Given the description of an element on the screen output the (x, y) to click on. 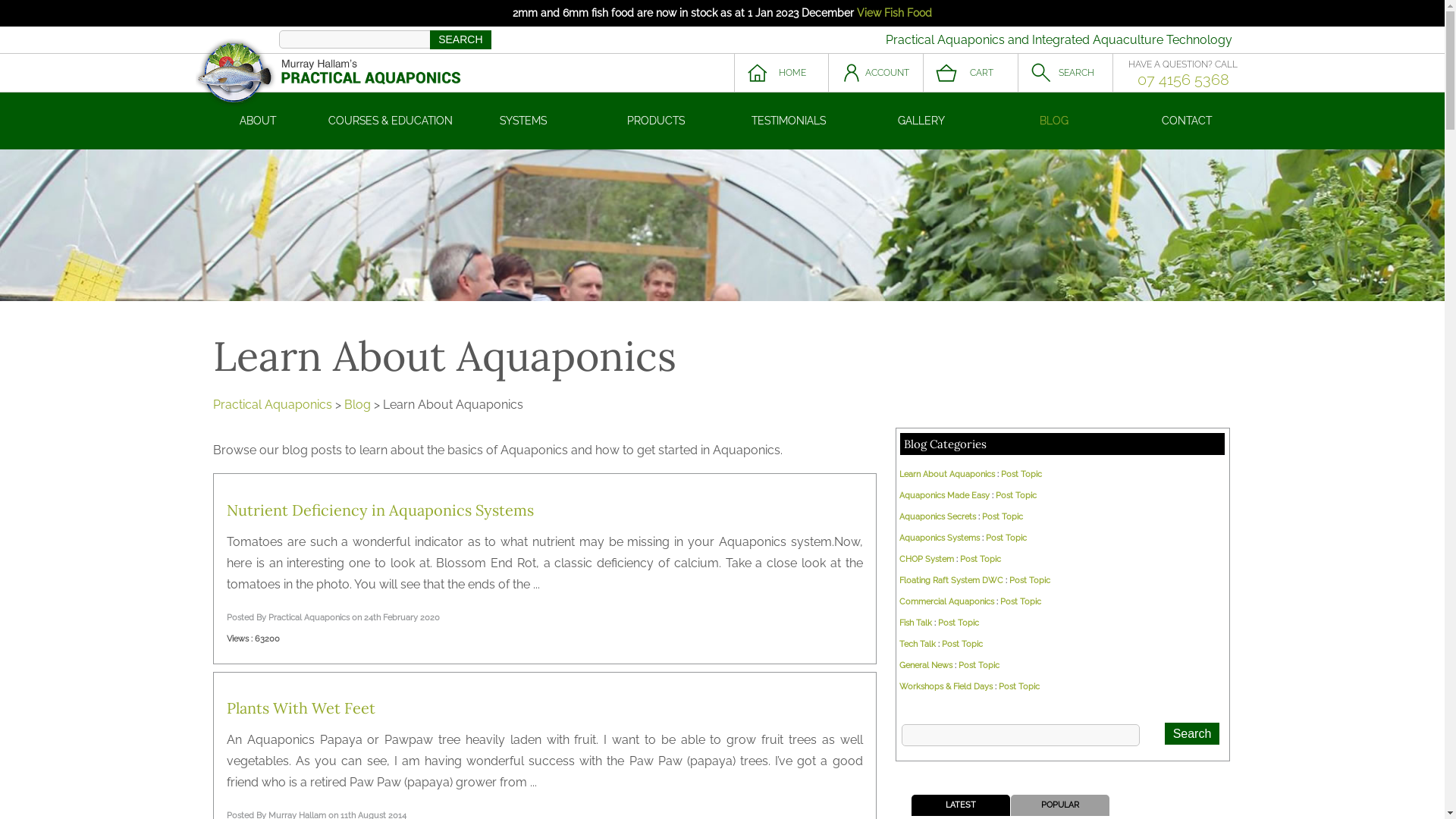
CHOP System Element type: text (926, 559)
HOME Element type: text (781, 72)
BLOG Element type: text (1053, 120)
CART Element type: text (970, 72)
ABOUT Element type: text (257, 120)
Post Topic Element type: text (980, 559)
POPULAR Element type: text (1059, 804)
Blog Element type: text (357, 404)
Fish Talk Element type: text (915, 622)
Post Topic Element type: text (1018, 686)
LATEST Element type: text (960, 804)
View Fish Food Element type: text (893, 12)
Learn About Aquaponics Element type: text (946, 474)
Plants With Wet Feet Element type: text (300, 707)
Blog Categories Element type: text (944, 443)
Workshops & Field Days Element type: text (945, 686)
Search Element type: text (1192, 733)
SEARCH Element type: text (459, 39)
SYSTEMS Element type: text (522, 120)
Commercial Aquaponics Element type: text (946, 601)
Post Topic Element type: text (1005, 537)
Post Topic Element type: text (1029, 580)
Practical Aquaponics Element type: text (271, 404)
PRODUCTS Element type: text (655, 120)
Post Topic Element type: text (958, 622)
Post Topic Element type: text (961, 644)
Post Topic Element type: text (1020, 601)
TESTIMONIALS Element type: text (787, 120)
Aquaponics Made Easy Element type: text (944, 495)
Tech Talk Element type: text (917, 644)
Post Topic Element type: text (1015, 495)
General News Element type: text (925, 665)
Post Topic Element type: text (1021, 474)
SEARCH Element type: text (1064, 72)
Floating Raft System DWC Element type: text (951, 580)
COURSES & EDUCATION Element type: text (390, 120)
Post Topic Element type: text (978, 665)
ACCOUNT Element type: text (875, 72)
Post Topic Element type: text (1002, 516)
Nutrient Deficiency in Aquaponics Systems Element type: text (379, 509)
GALLERY Element type: text (921, 120)
07 4156 5368 Element type: text (1183, 79)
CONTACT Element type: text (1186, 120)
Aquaponics Secrets Element type: text (937, 516)
Aquaponics Systems Element type: text (939, 537)
